Given the description of an element on the screen output the (x, y) to click on. 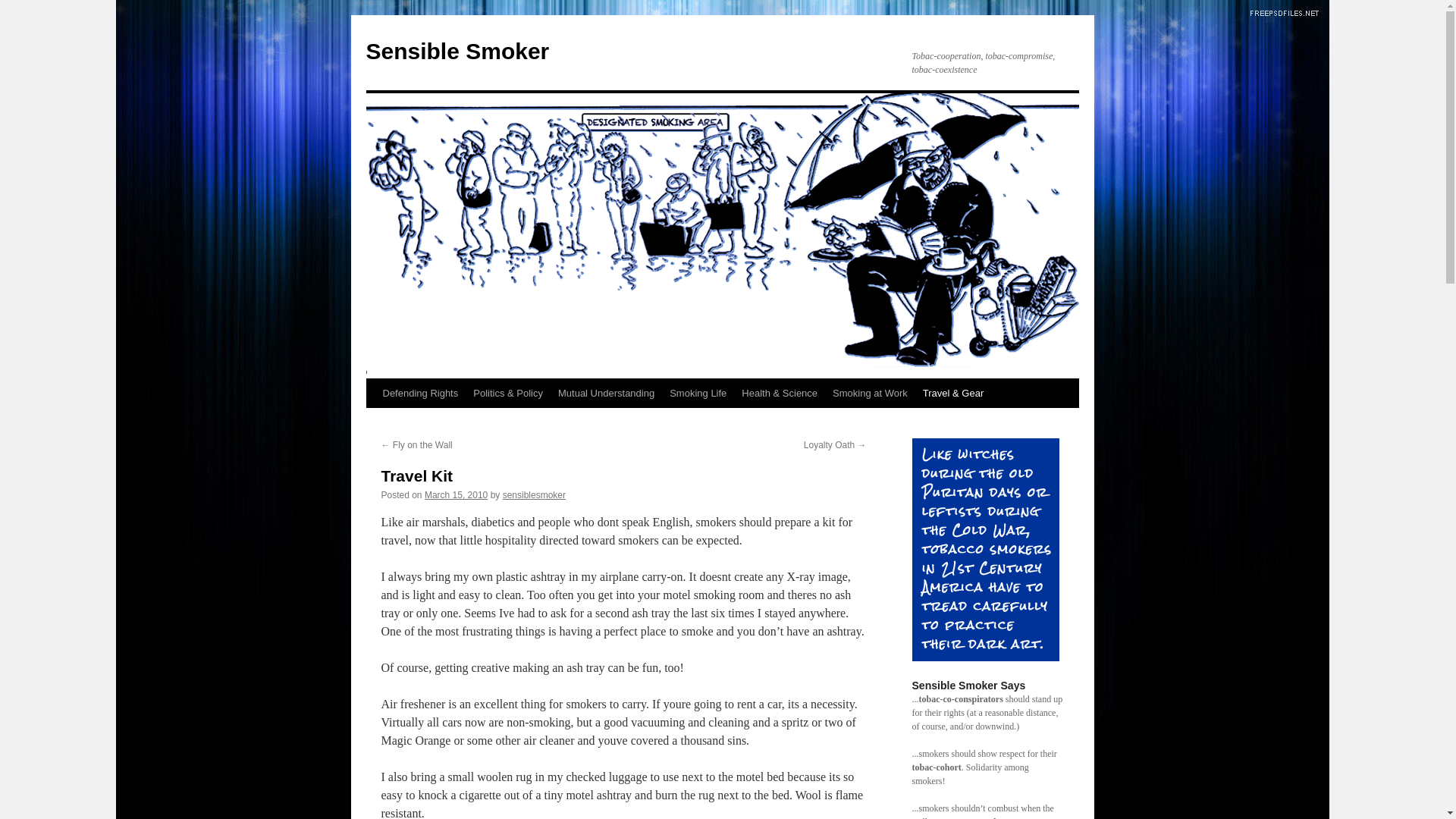
Smoking Life (697, 393)
Smoking at Work (870, 393)
March 15, 2010 (456, 494)
sensiblesmoker (534, 494)
Sensible Smoker (456, 50)
Defending Rights (419, 393)
View all posts by sensiblesmoker (534, 494)
9:26 pm (456, 494)
Mutual Understanding (606, 393)
